Given the description of an element on the screen output the (x, y) to click on. 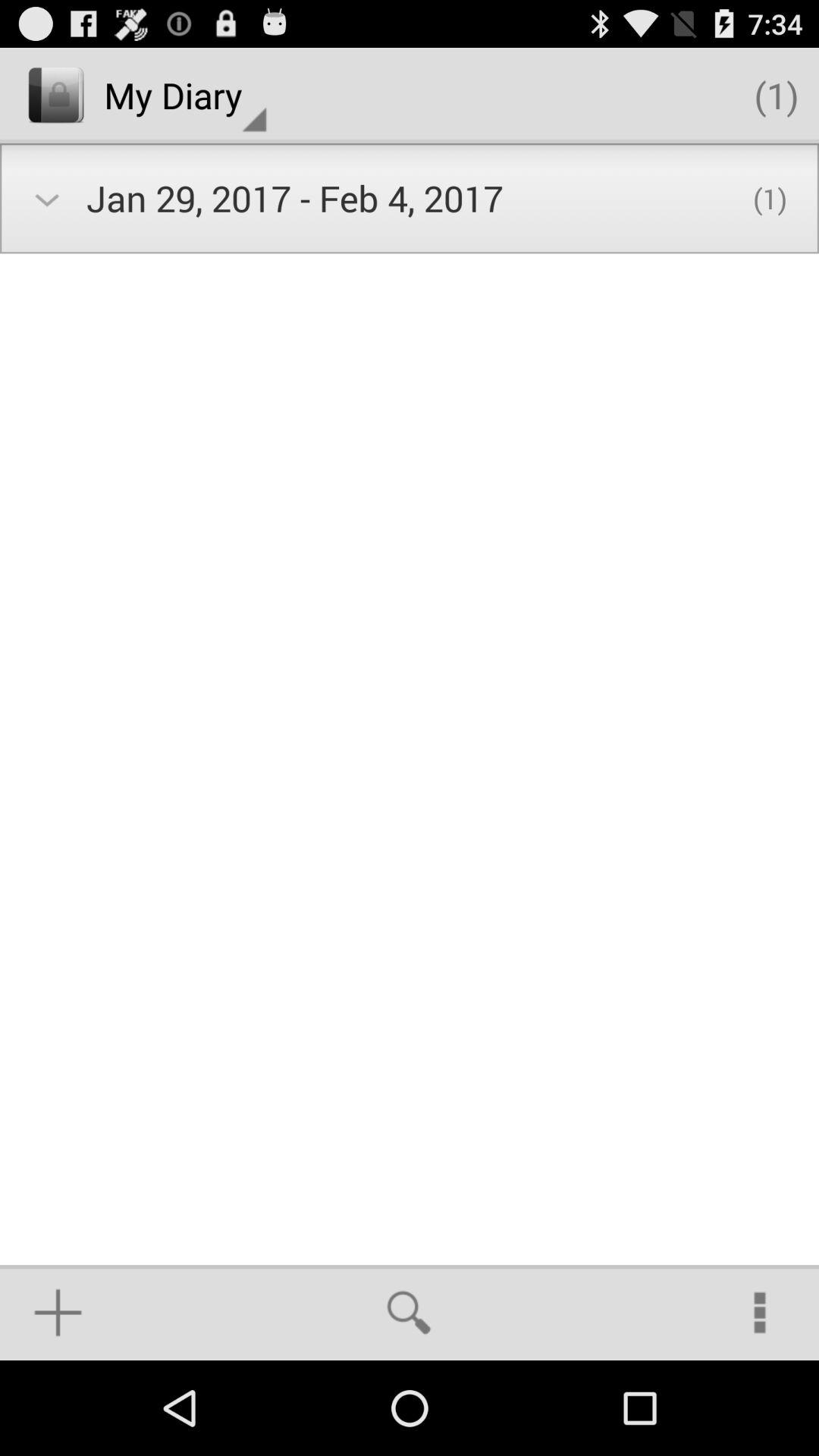
tap the icon below the (1) (759, 1312)
